Given the description of an element on the screen output the (x, y) to click on. 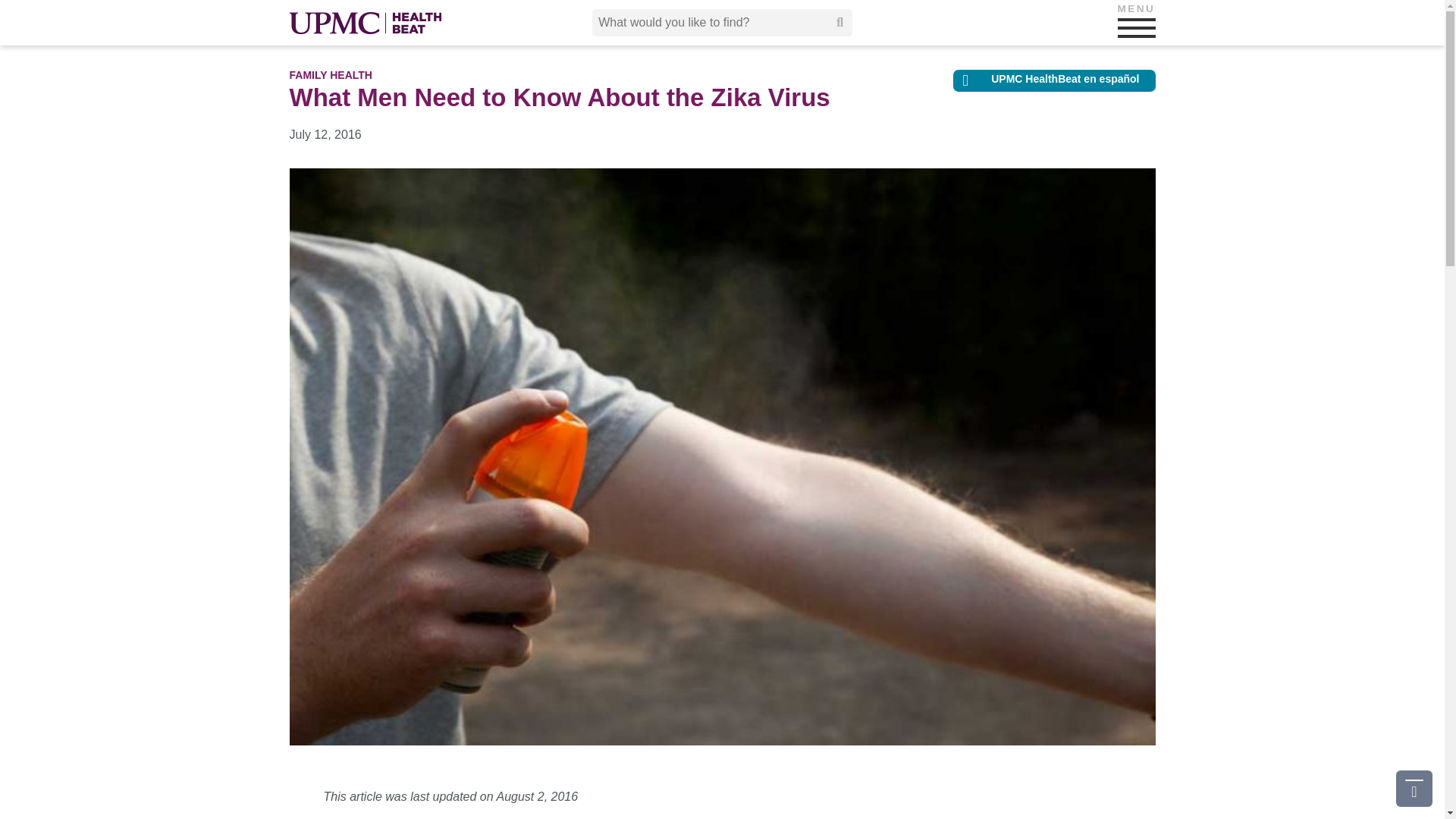
Submit search (839, 22)
  MENU (1137, 27)
UPMC HealthBeat (365, 22)
